Given the description of an element on the screen output the (x, y) to click on. 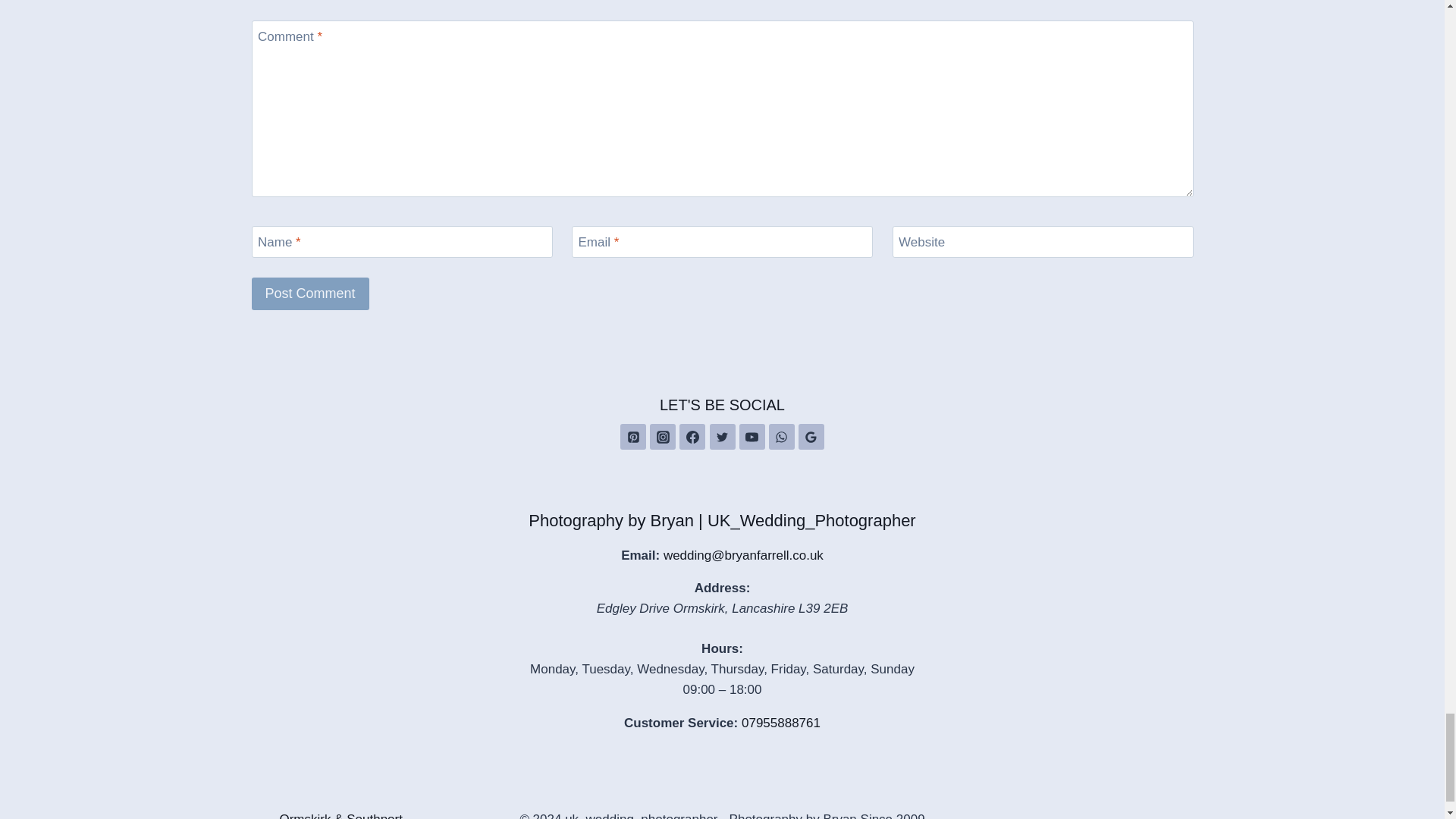
Post Comment (310, 293)
